Given the description of an element on the screen output the (x, y) to click on. 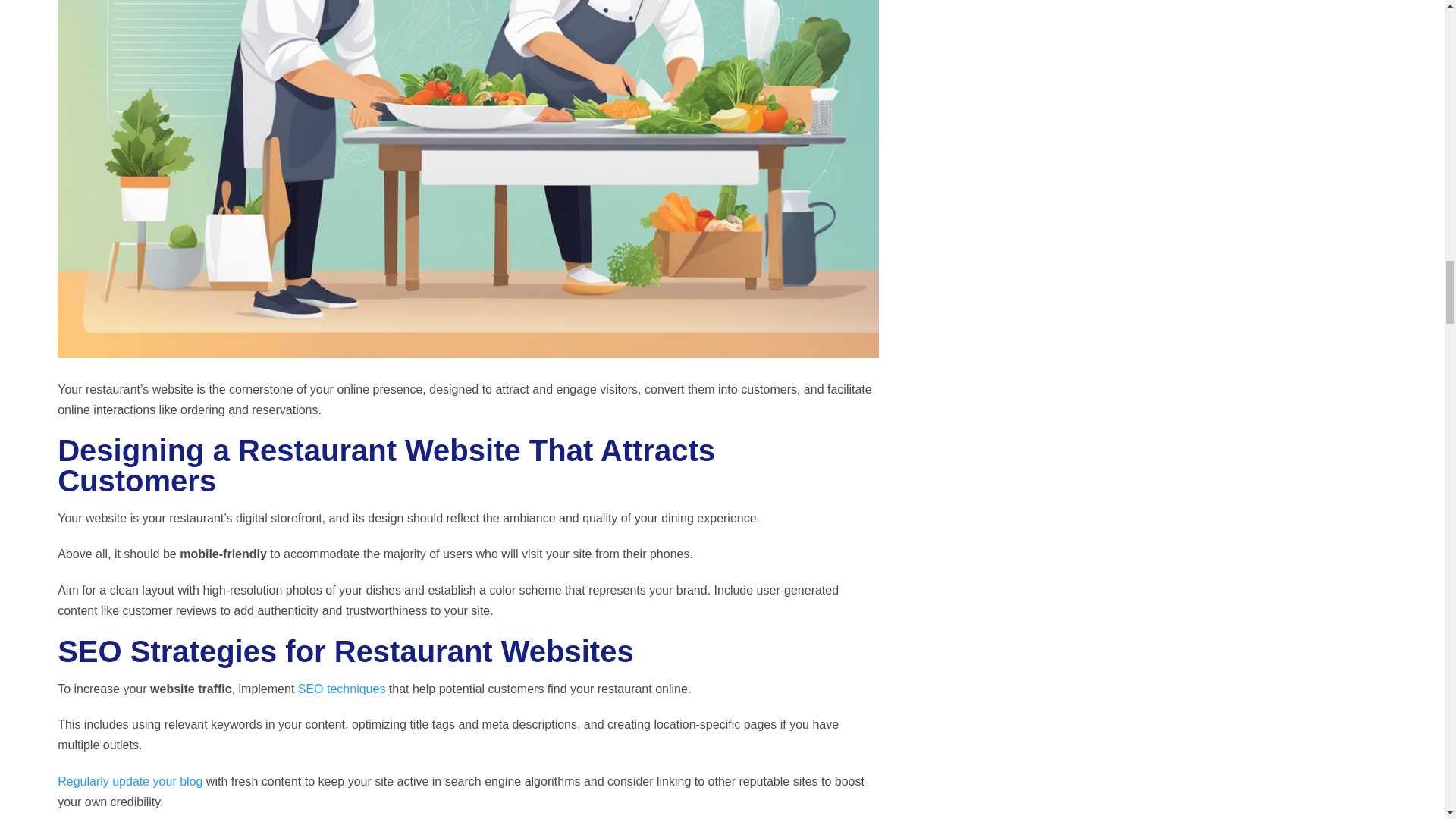
Regularly update your blog (130, 780)
SEO techniques (341, 688)
